Given the description of an element on the screen output the (x, y) to click on. 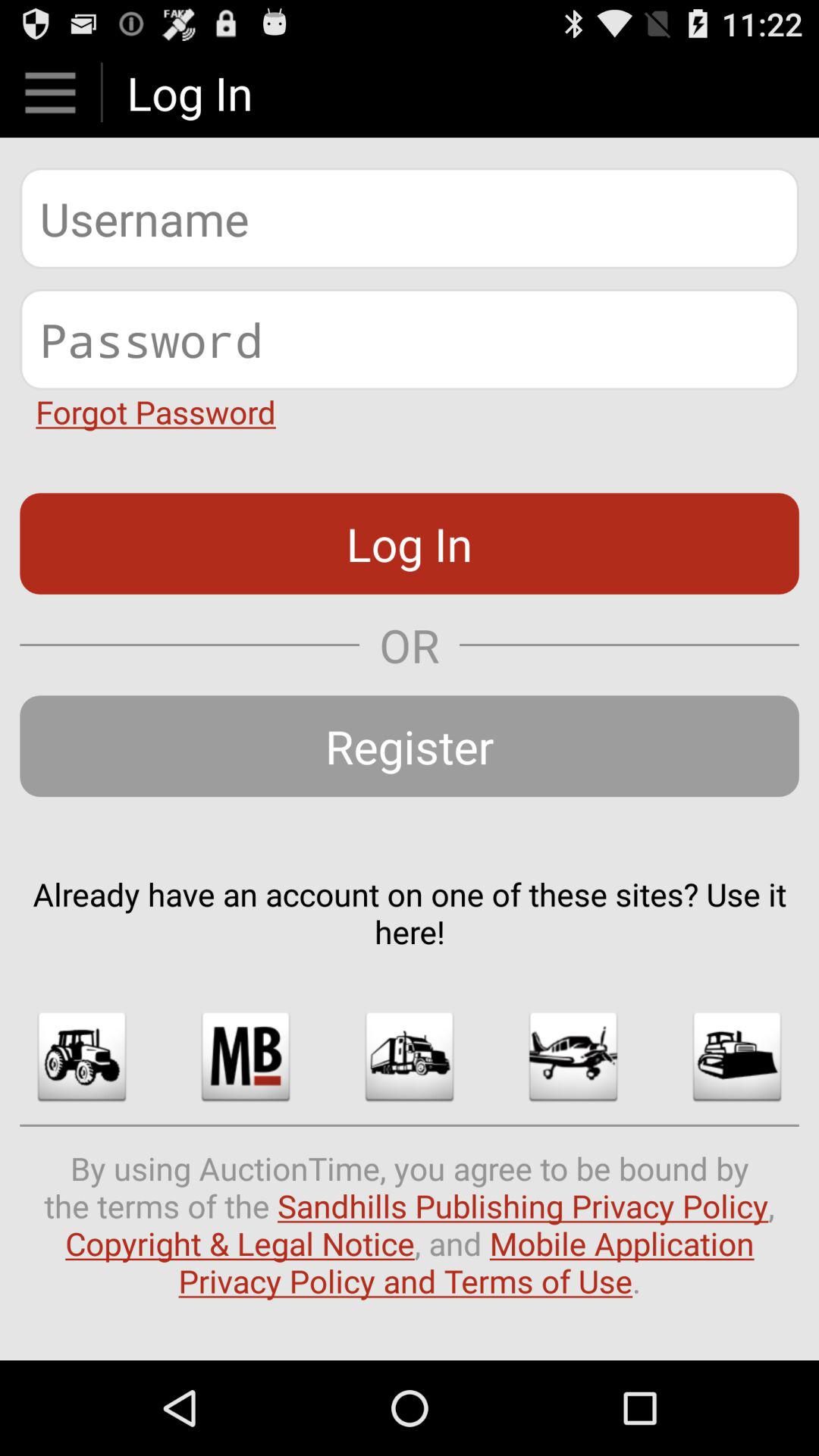
turn on the item below already have an item (409, 1056)
